Given the description of an element on the screen output the (x, y) to click on. 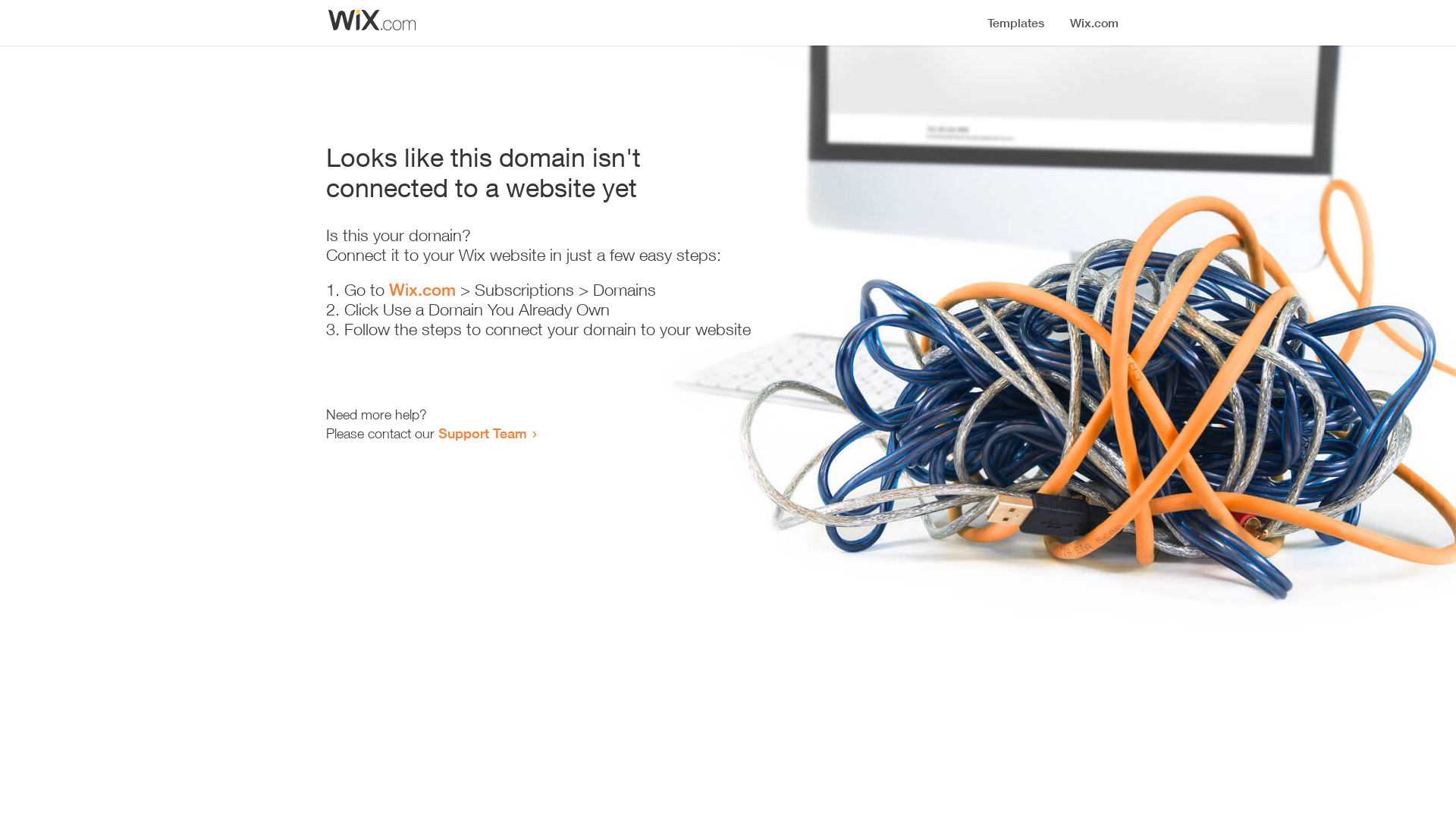
Support Team Element type: text (482, 432)
Wix.com Element type: text (422, 289)
